Given the description of an element on the screen output the (x, y) to click on. 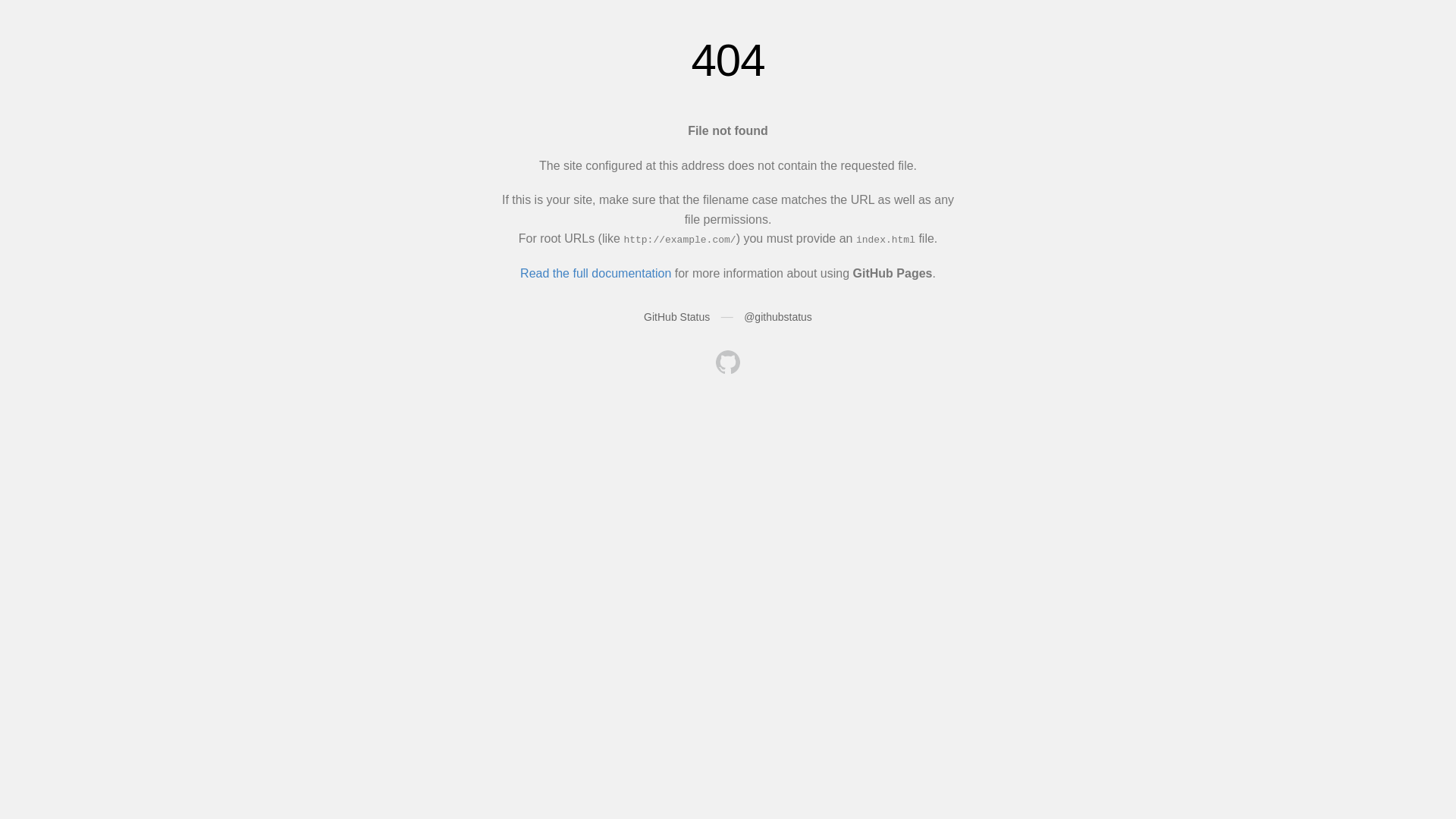
GitHub Status Element type: text (676, 316)
@githubstatus Element type: text (777, 316)
Read the full documentation Element type: text (595, 272)
